Given the description of an element on the screen output the (x, y) to click on. 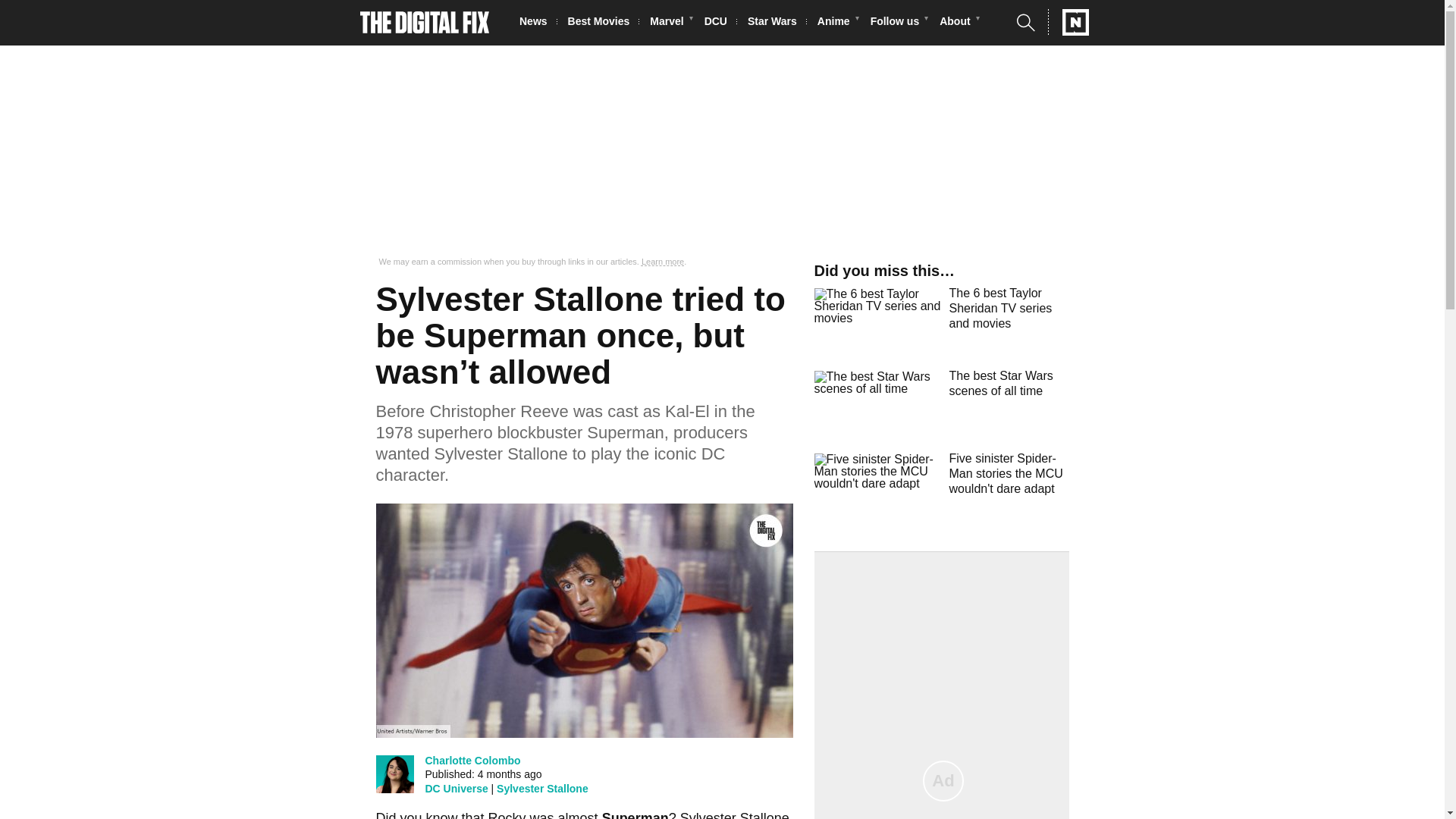
Network N Media (1068, 22)
Sylvester Stallone (542, 788)
Sylvester Stallone (734, 814)
Learn more (663, 261)
Anime News (837, 22)
Marvel (671, 22)
DC Universe (456, 788)
Anime (837, 22)
The Digital Fix (424, 22)
Best Movies (603, 22)
Star Wars News (777, 22)
Follow us (899, 22)
Star Wars (777, 22)
Marvel Cinematic Universe News (671, 22)
Charlotte Colombo (472, 760)
